Given the description of an element on the screen output the (x, y) to click on. 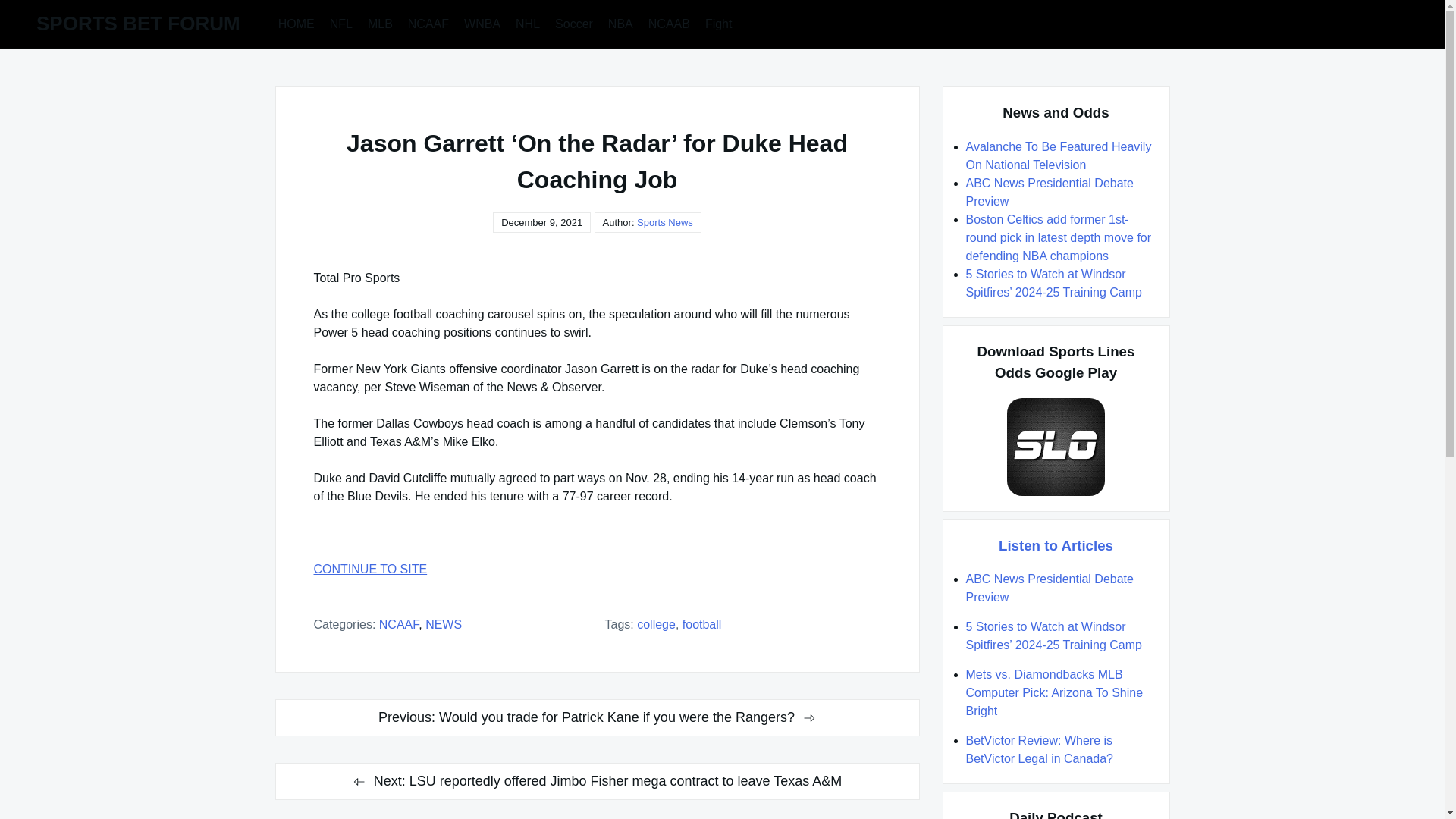
Sports News (665, 222)
NCAAF (398, 624)
WNBA (482, 23)
NEWS (443, 624)
football (702, 624)
SPORTS BET FORUM (138, 23)
CONTINUE TO SITE (597, 569)
NHL (527, 23)
Fight (718, 23)
NBA (619, 23)
